Given the description of an element on the screen output the (x, y) to click on. 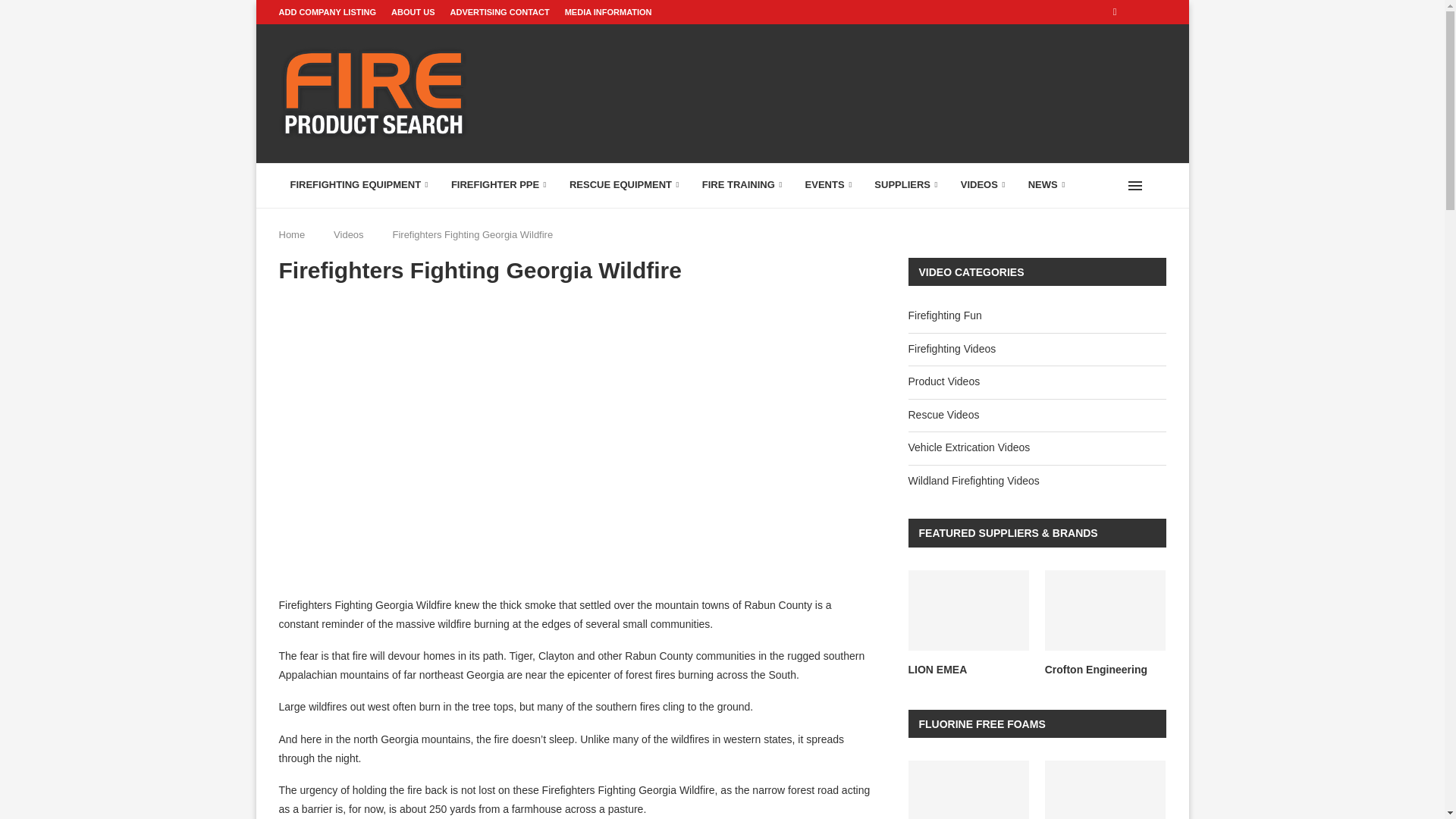
ADD COMPANY LISTING (328, 12)
ADVERTISING CONTACT (499, 12)
FIREFIGHTING EQUIPMENT (359, 185)
FIREFIGHTER PPE (498, 185)
MEDIA INFORMATION (608, 12)
Firefighters Fighting Georgia Wildfire (573, 439)
ABOUT US (412, 12)
